Given the description of an element on the screen output the (x, y) to click on. 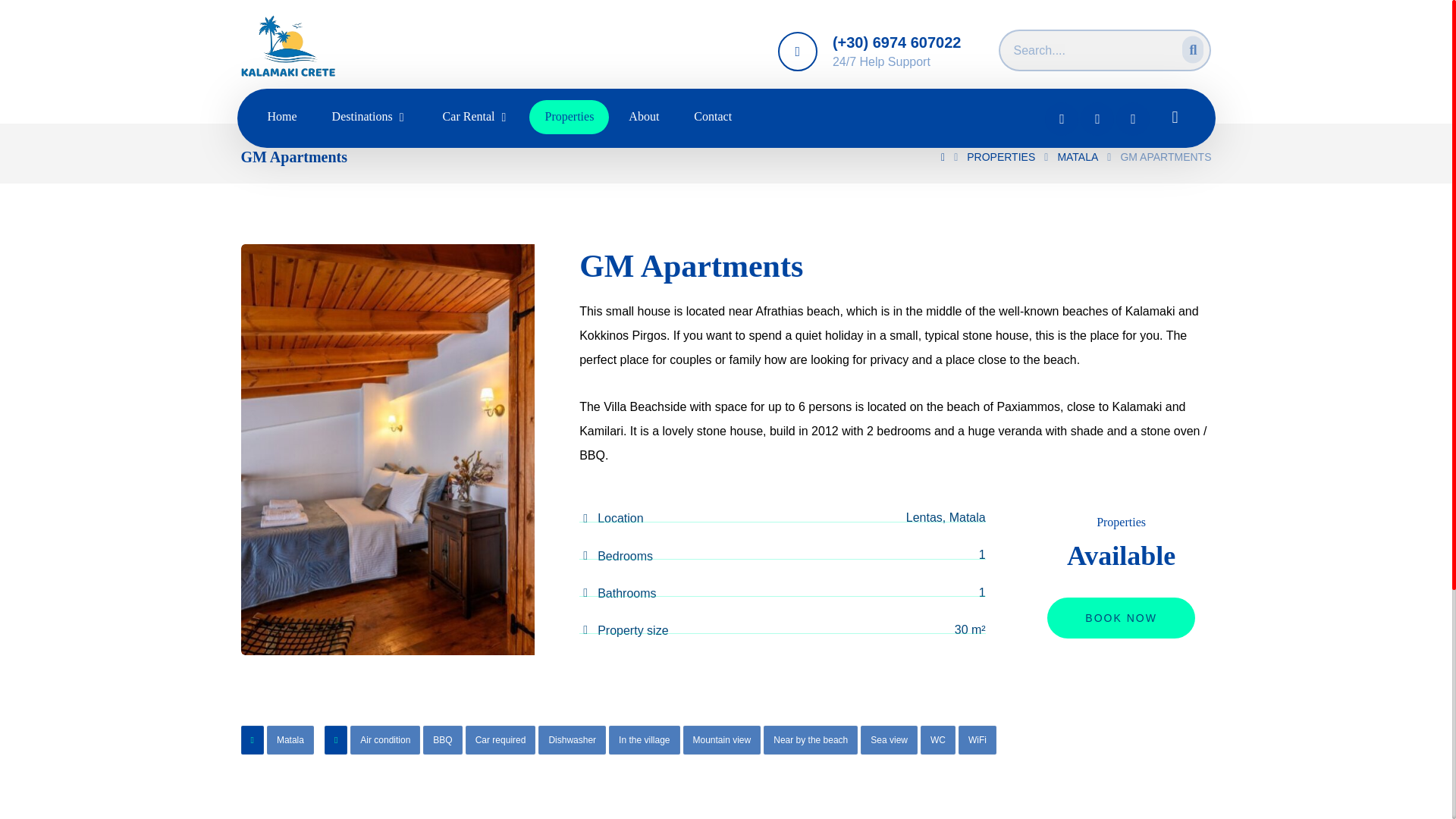
Destinations (370, 116)
About (643, 116)
Contact (712, 116)
Home (281, 116)
Car Rental (476, 116)
Properties (568, 116)
